Given the description of an element on the screen output the (x, y) to click on. 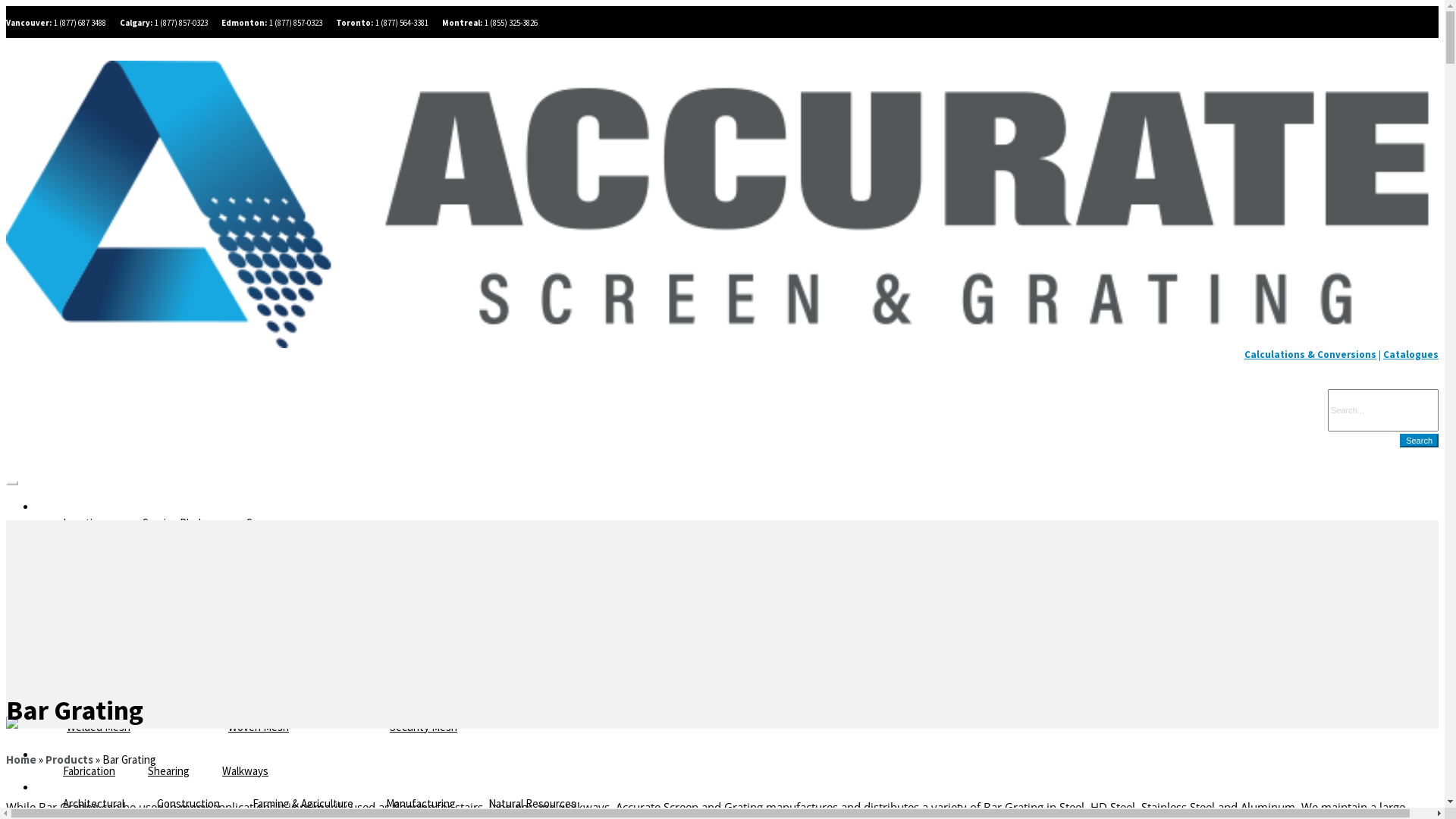
1 (855) 325-3826 Element type: text (510, 22)
Calculations & Conversions Element type: text (1310, 354)
Expanded Metal Element type: text (446, 618)
Woven Mesh Element type: text (285, 720)
Fibreglass Grating Element type: text (608, 618)
APPLICATIONS Element type: text (89, 787)
Careers Element type: text (264, 522)
SERVICES Element type: text (75, 754)
Products Element type: text (69, 759)
Perforated Sheet Metal Element type: text (931, 669)
Stair Treads Element type: text (1092, 669)
Welded Mesh Element type: text (123, 720)
1 (877) 564-3381 Element type: text (401, 22)
PRODUCTS Element type: text (80, 539)
Walkways Element type: text (245, 770)
Channel Grating Element type: text (285, 618)
Go Element type: text (11, 21)
1 (877) 857-0323 Element type: text (180, 22)
Service Pledge Element type: text (177, 522)
Security Mesh Element type: text (446, 720)
Search Element type: text (1418, 440)
Accurate Screen & Grating Element type: hover (722, 204)
Shearing Element type: text (168, 770)
Locations Element type: text (86, 522)
Catalogues Element type: text (1410, 354)
Walkways Element type: text (1254, 669)
ABOUT Element type: text (69, 506)
Home Element type: text (21, 759)
Bar Grating
(current) Element type: text (123, 618)
1 (877) 857-0323 Element type: text (295, 22)
Fabrication Element type: text (88, 770)
1 (877) 687 3488 Element type: text (79, 22)
Industrial & Architectural Metals Element type: text (769, 661)
